Given the description of an element on the screen output the (x, y) to click on. 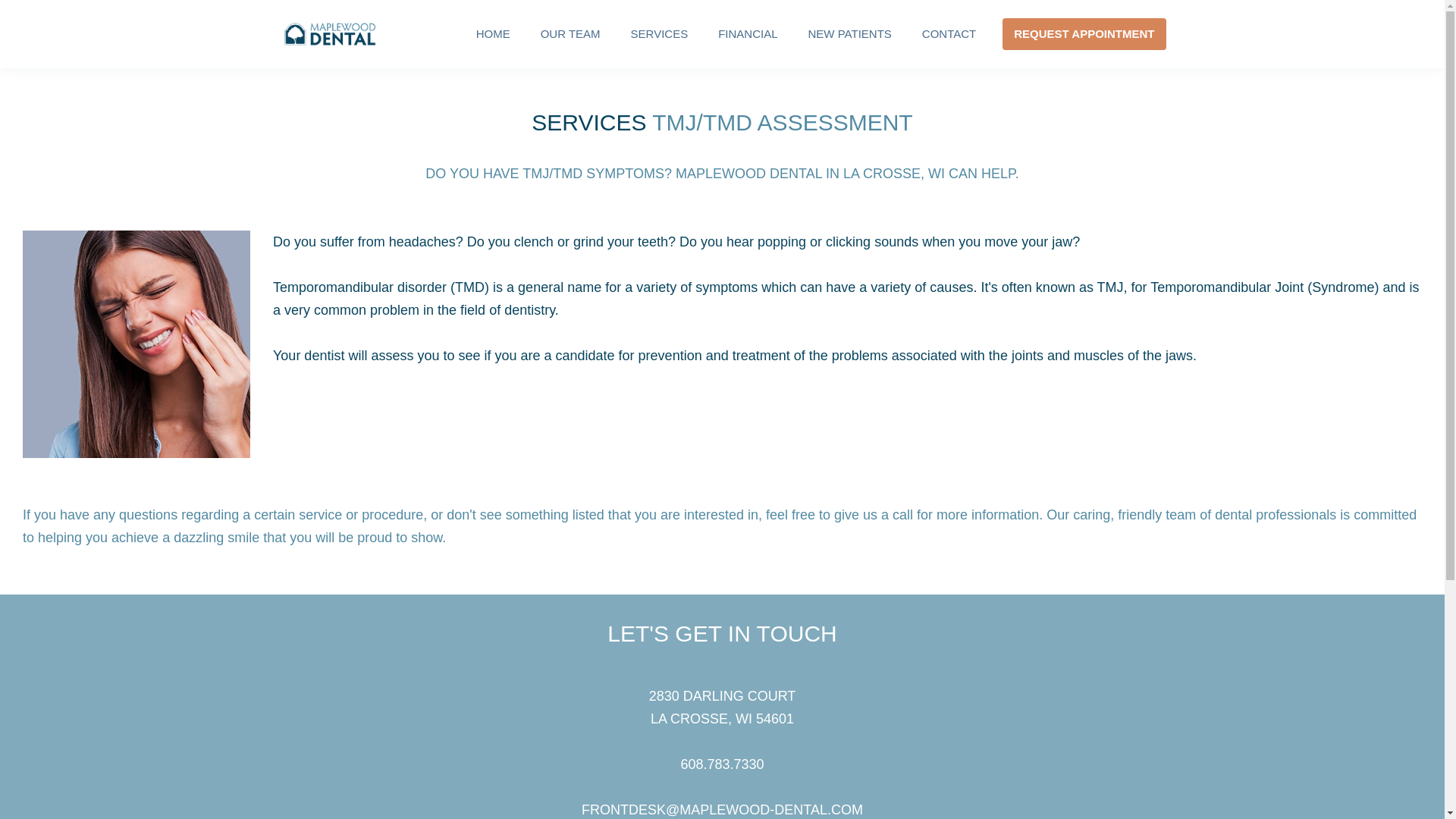
HOME (493, 33)
608.783.7330 (720, 764)
CONTACT (949, 33)
NEW PATIENTS (850, 33)
SERVICES (659, 33)
REQUEST APPOINTMENT (1084, 33)
FINANCIAL (747, 33)
OUR TEAM (570, 33)
